Given the description of an element on the screen output the (x, y) to click on. 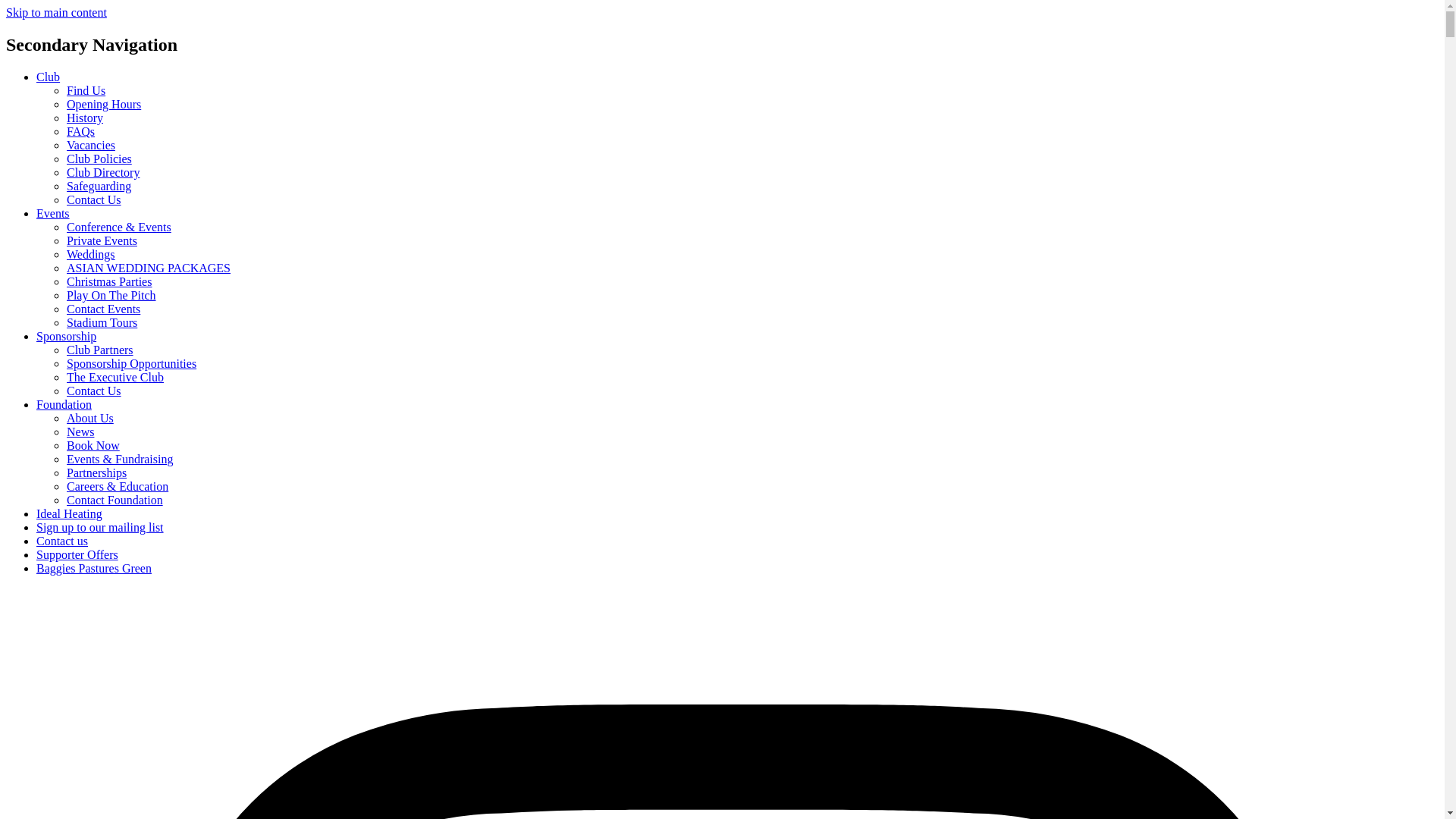
Club (47, 76)
Safeguarding (98, 185)
Club Partners (99, 349)
Contact the Events Team (102, 308)
Skip to main content (55, 11)
Contact Events (102, 308)
Supporter Offers (76, 554)
Events (52, 213)
Foundation News (80, 431)
Book Now (92, 445)
Contact Foundation (114, 499)
The Executive Club (114, 377)
Private Events (101, 240)
Find Us (85, 90)
Celebrate Christmas at The Hawthorns (108, 281)
